Given the description of an element on the screen output the (x, y) to click on. 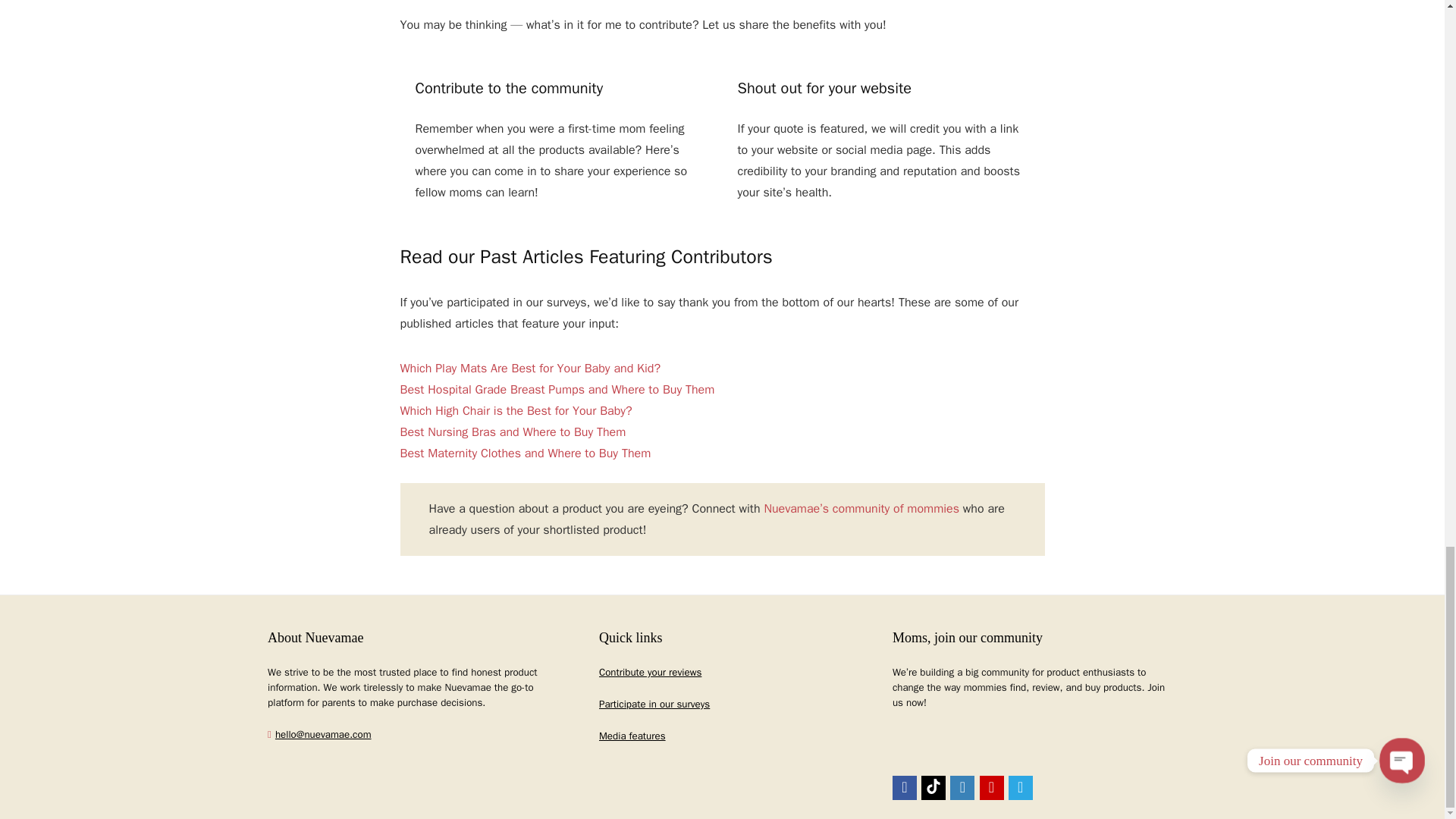
Which Play Mats Are Best for Your Baby and Kid? (530, 368)
Which High Chair is the Best for Your Baby? (515, 410)
Best Hospital Grade Breast Pumps and Where to Buy Them (557, 389)
Best Maternity Clothes and Where to Buy Them (525, 453)
Best Nursing Bras and Where to Buy Them (513, 432)
